Given the description of an element on the screen output the (x, y) to click on. 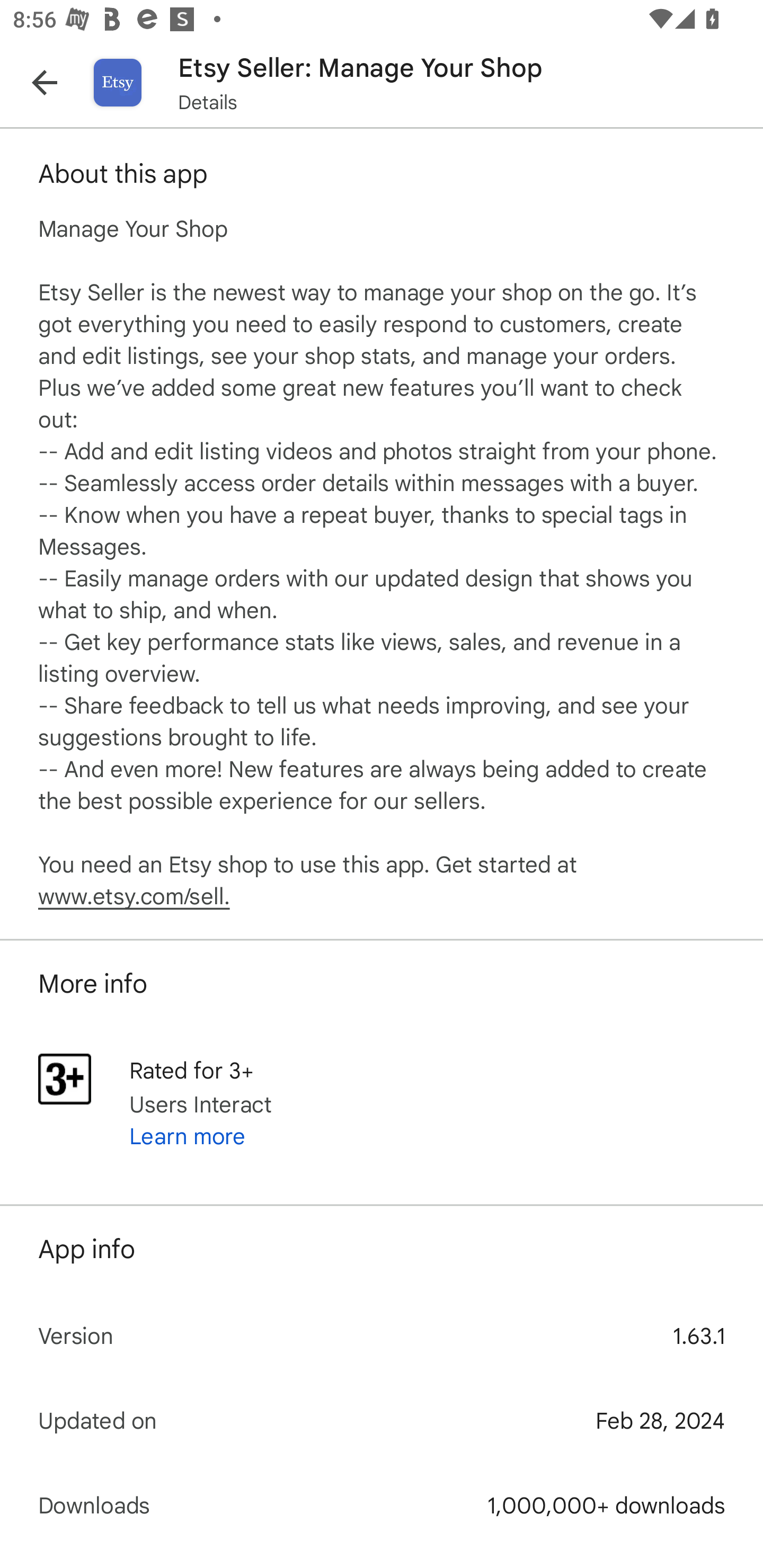
Navigate up (44, 82)
